Given the description of an element on the screen output the (x, y) to click on. 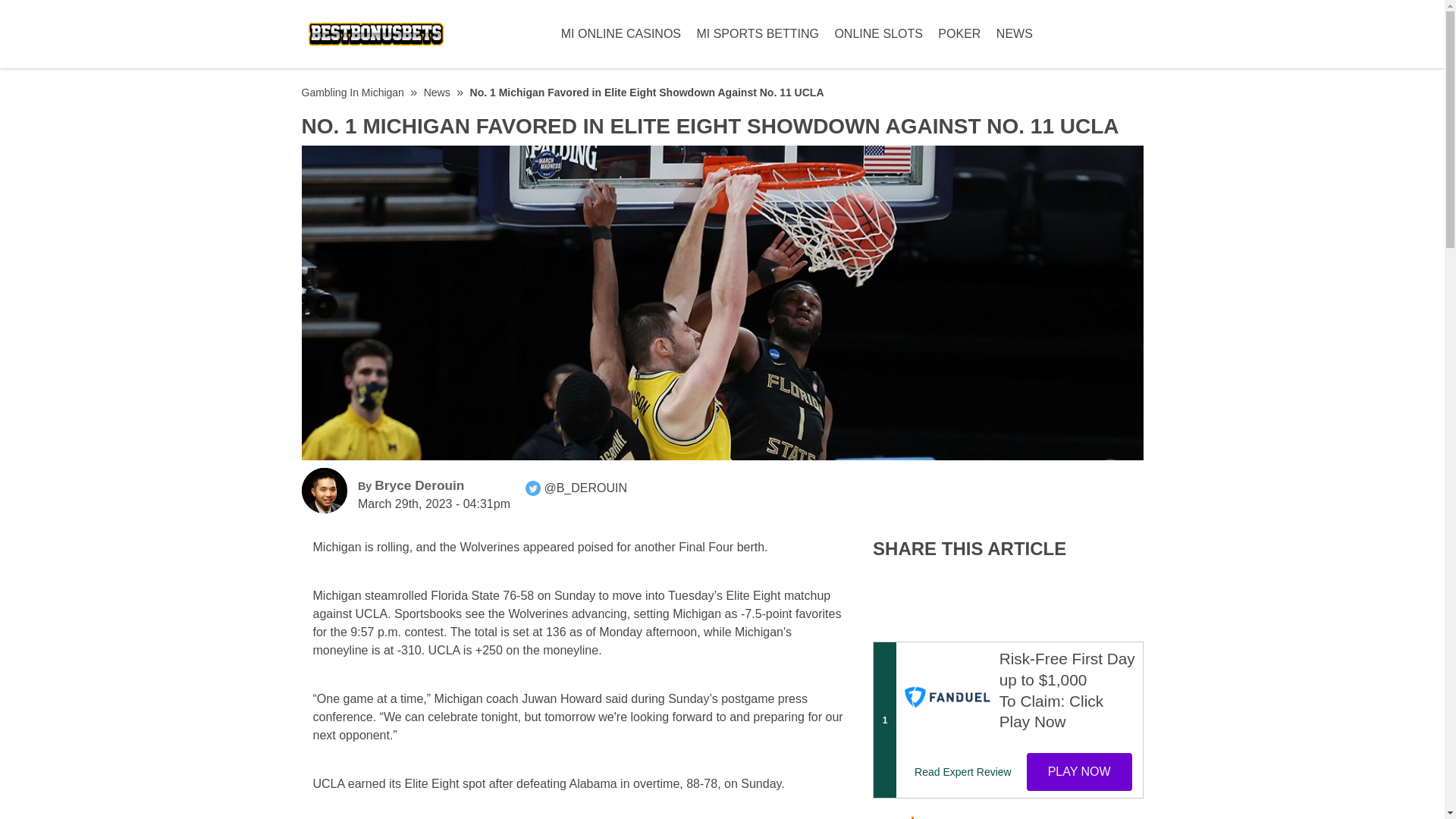
MI SPORTS BETTING (756, 33)
Gambling In Michigan (352, 92)
bestbonusbets.com (324, 490)
bestbonusbets.com (532, 488)
MI ONLINE CASINOS (620, 33)
bestbonusbets.com logo (376, 33)
ONLINE SLOTS (877, 33)
News (436, 92)
FanDuel Casino (946, 696)
Gambling In Michigan (352, 92)
